Given the description of an element on the screen output the (x, y) to click on. 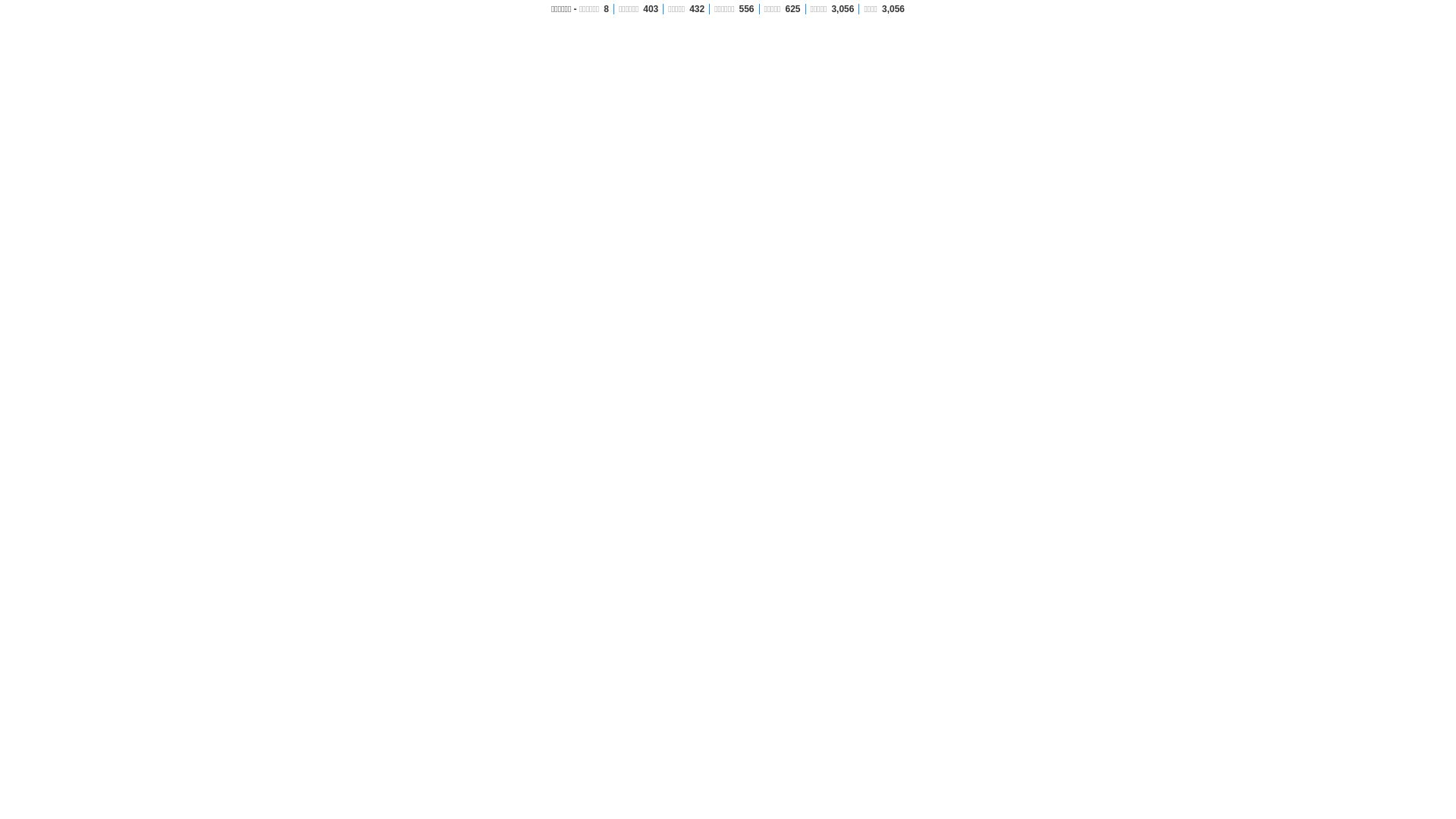
  Element type: text (1135, 94)
